Given the description of an element on the screen output the (x, y) to click on. 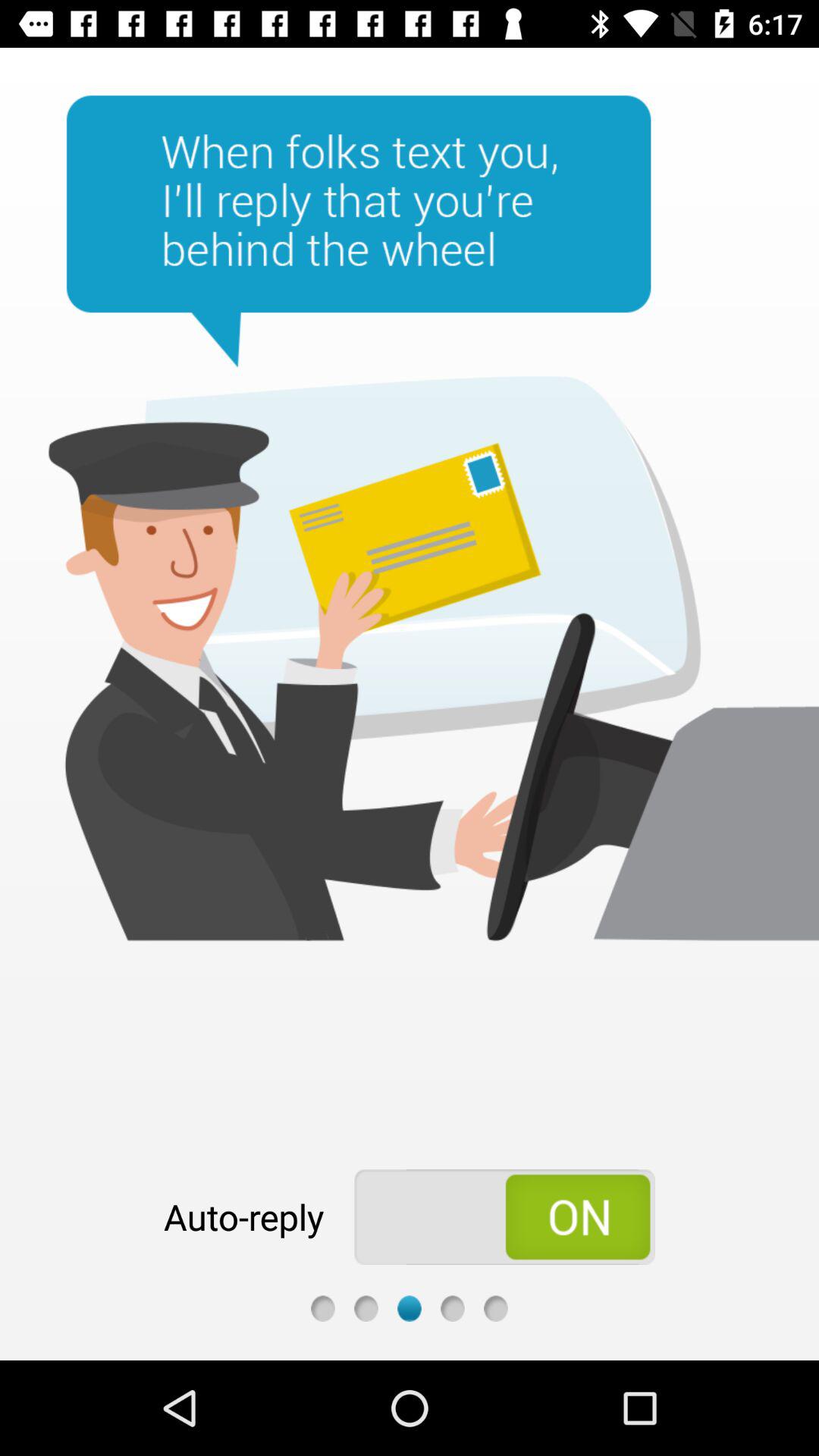
web page dot (409, 1308)
